Given the description of an element on the screen output the (x, y) to click on. 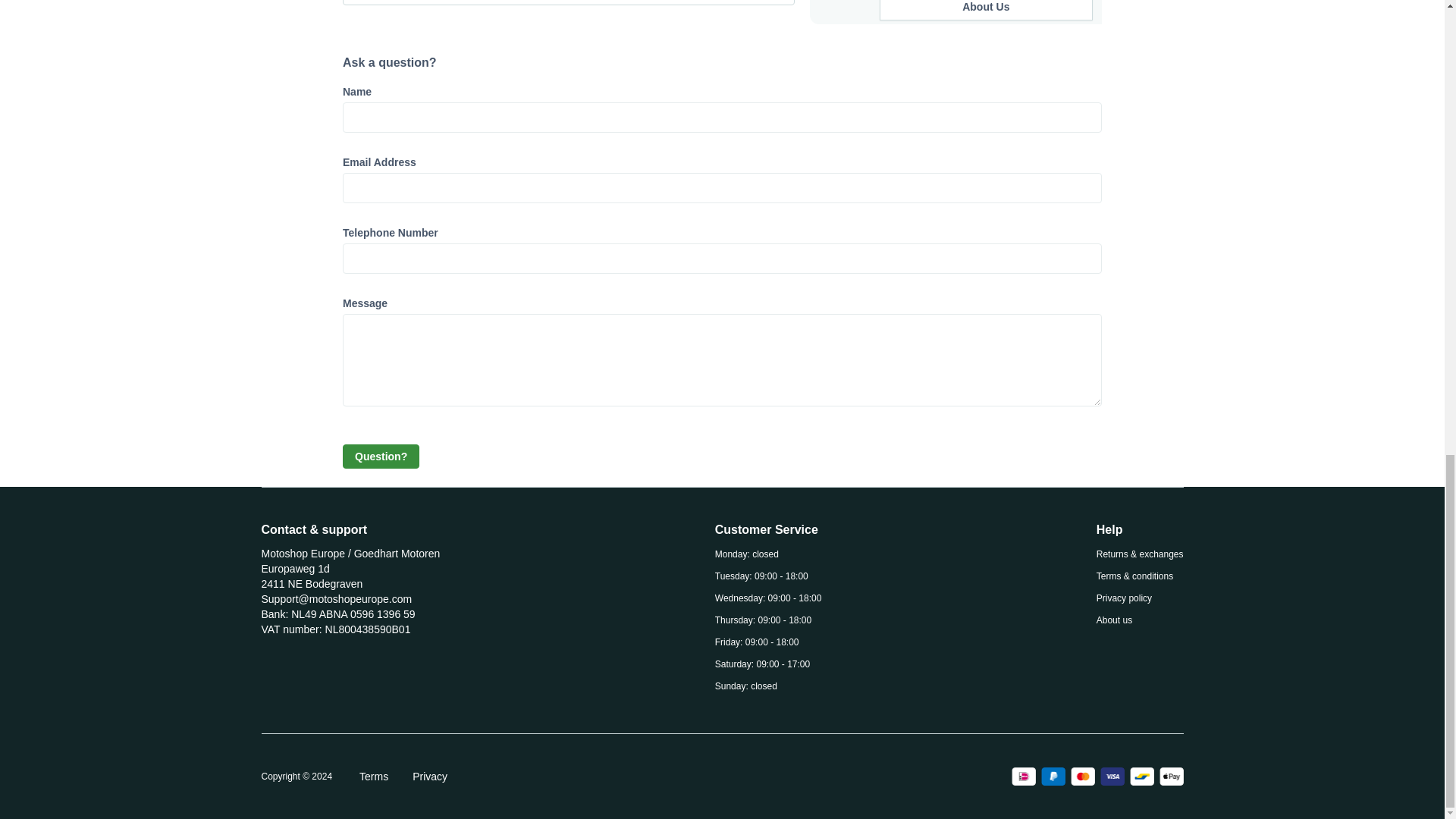
Question? (380, 456)
